Given the description of an element on the screen output the (x, y) to click on. 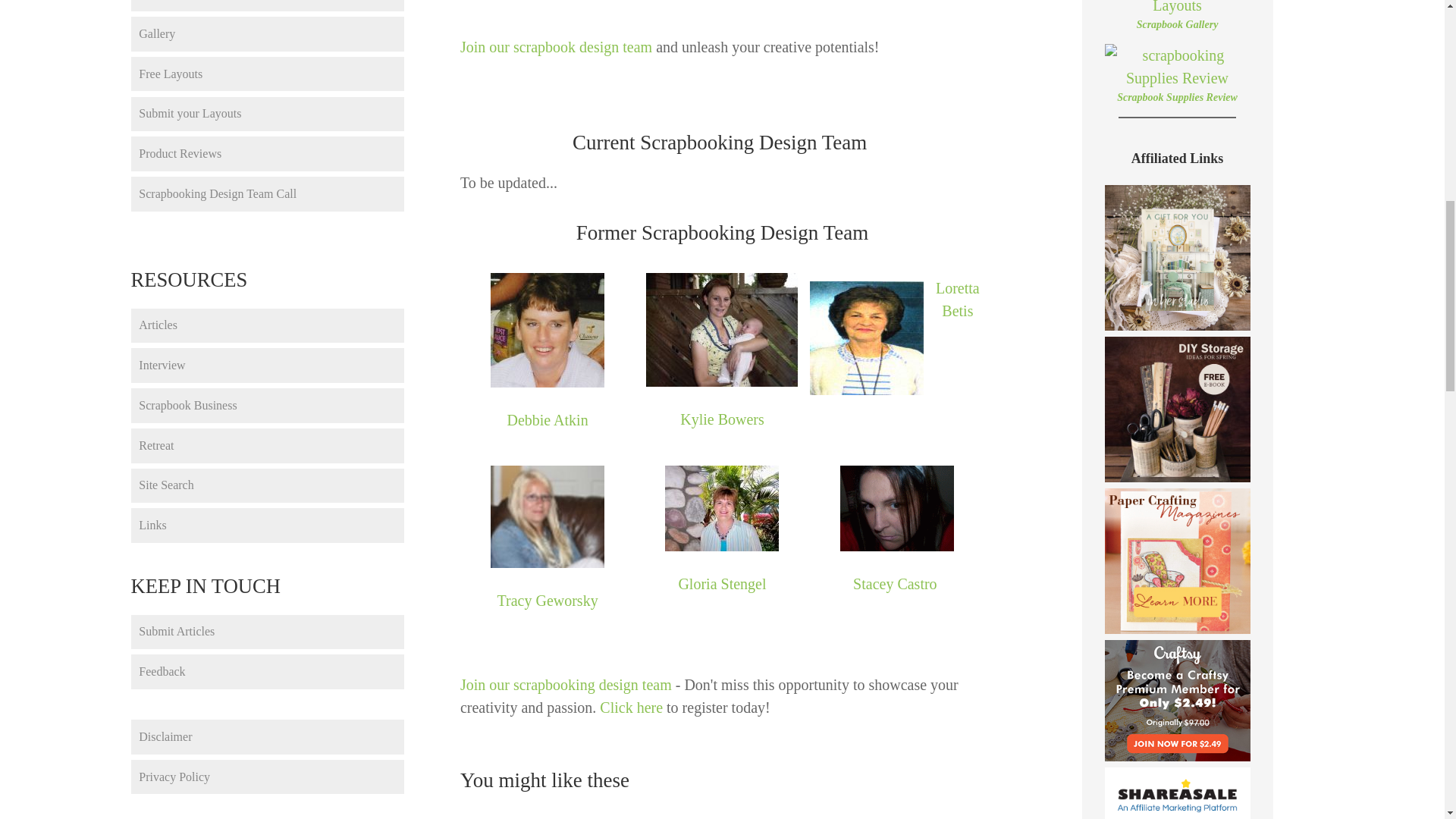
DEBBIE (547, 329)
Stacy (896, 508)
Kylie Bowers (721, 419)
Join our scrapbook design team (556, 46)
gloria (721, 508)
Debbie Atkin (547, 419)
KYLIE (721, 329)
LORETTA (866, 337)
Loretta Betis (957, 299)
